Given the description of an element on the screen output the (x, y) to click on. 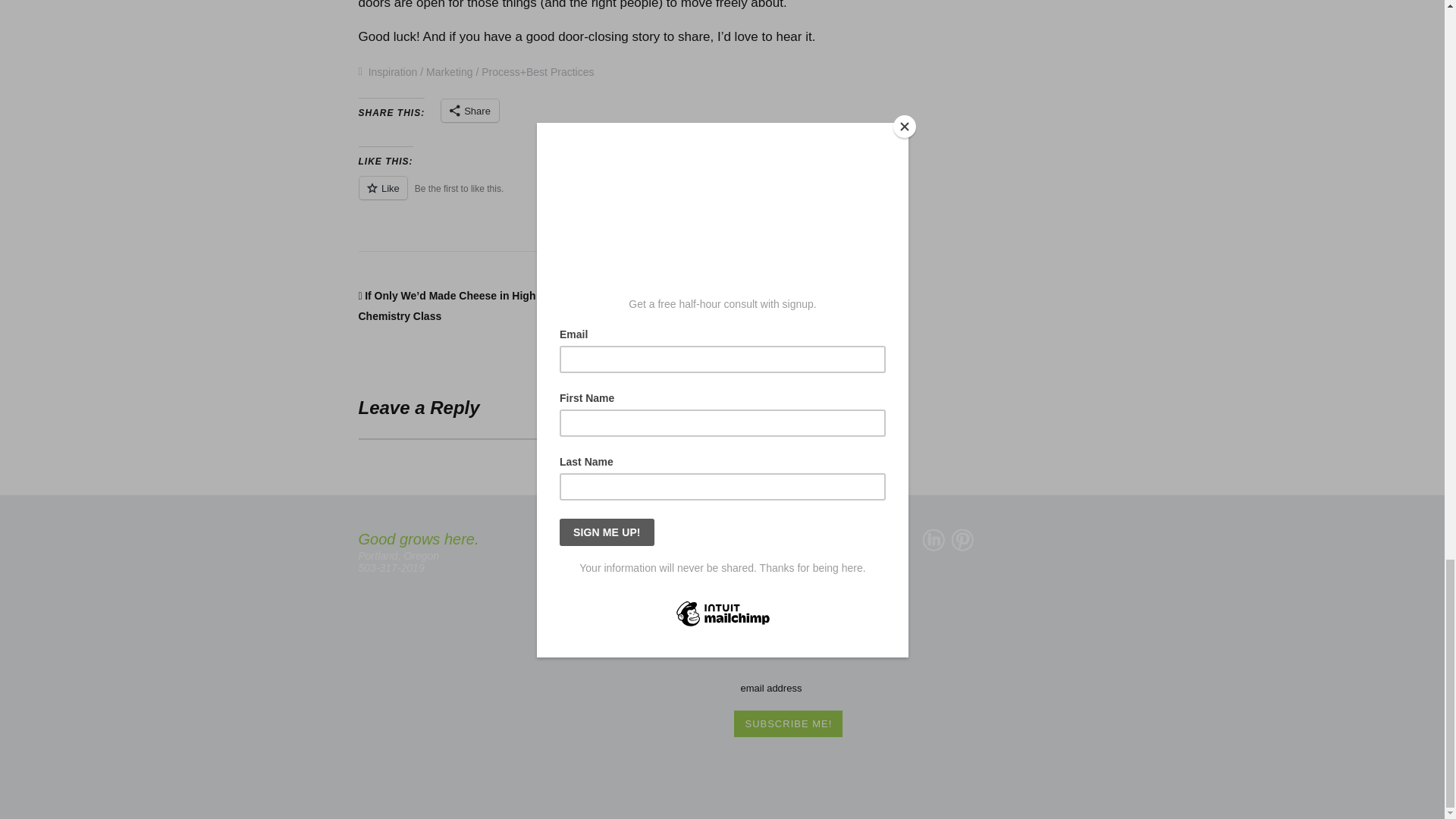
Start a Project button (628, 594)
Subscribe Me! (788, 723)
Say hello (628, 544)
Like or Reblog (593, 196)
Marketing (448, 71)
Share (470, 110)
Inspiration (392, 71)
